Given the description of an element on the screen output the (x, y) to click on. 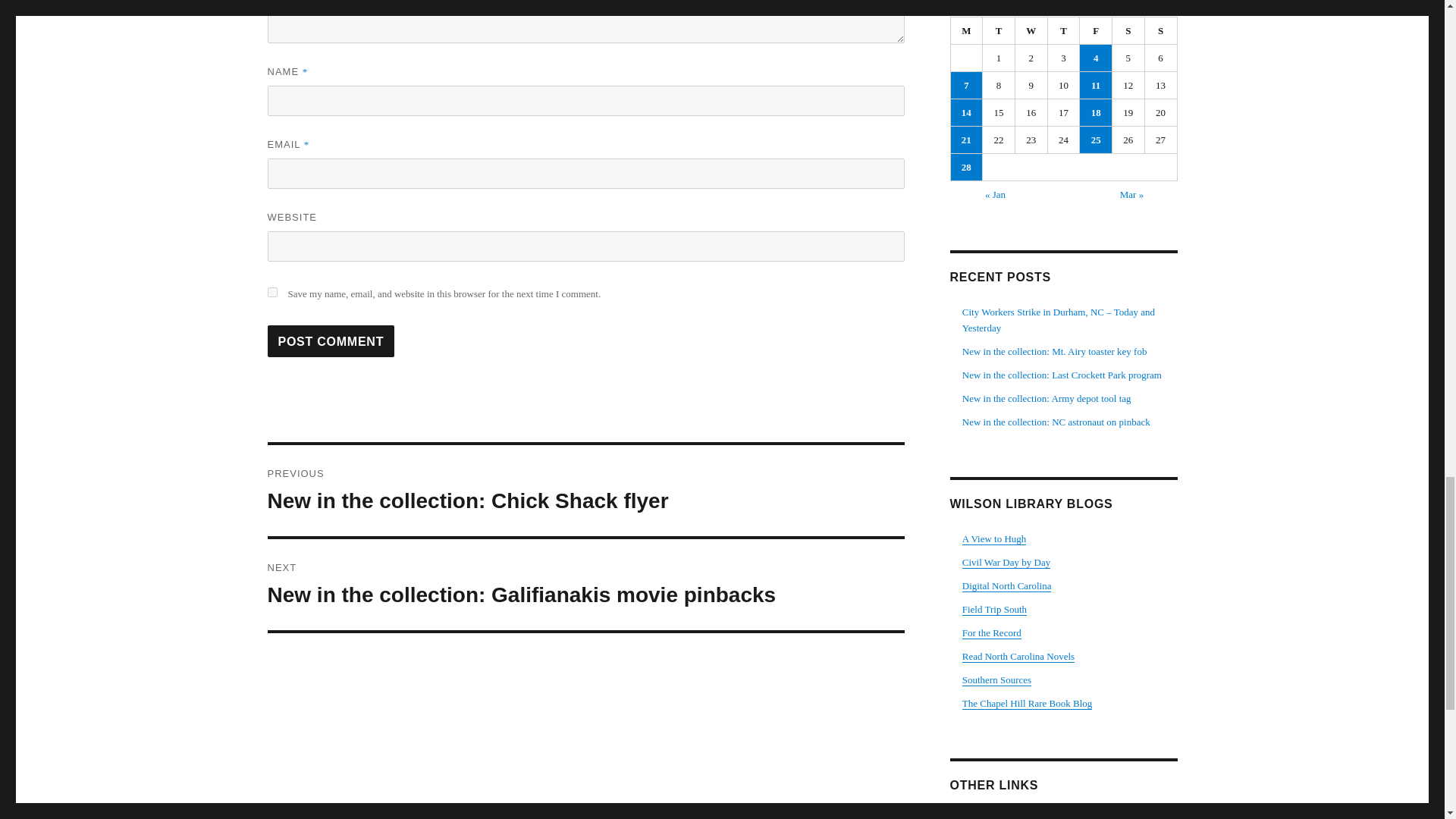
Sunday (1160, 31)
4 (1096, 58)
Saturday (1128, 31)
Tuesday (998, 31)
14 (966, 112)
 Processing the Hugh Morton Photographs and Films (994, 538)
7 (966, 85)
Post Comment (330, 341)
11 (1096, 85)
